Given the description of an element on the screen output the (x, y) to click on. 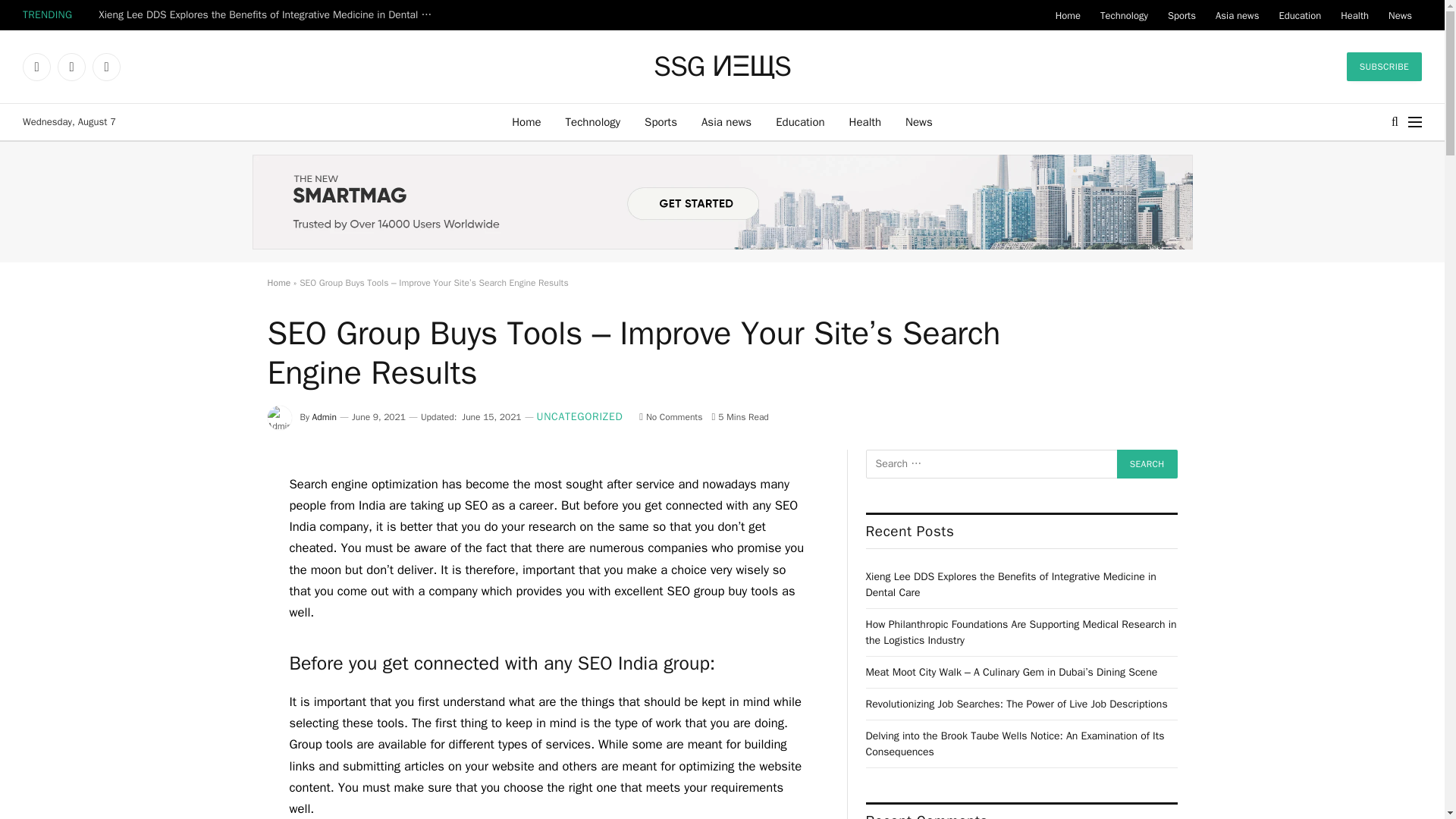
Search (1146, 463)
Home (526, 122)
News (1400, 15)
Instagram (106, 67)
Facebook (36, 67)
Asia news (725, 122)
Technology (593, 122)
Search (1146, 463)
Health (1354, 15)
